Given the description of an element on the screen output the (x, y) to click on. 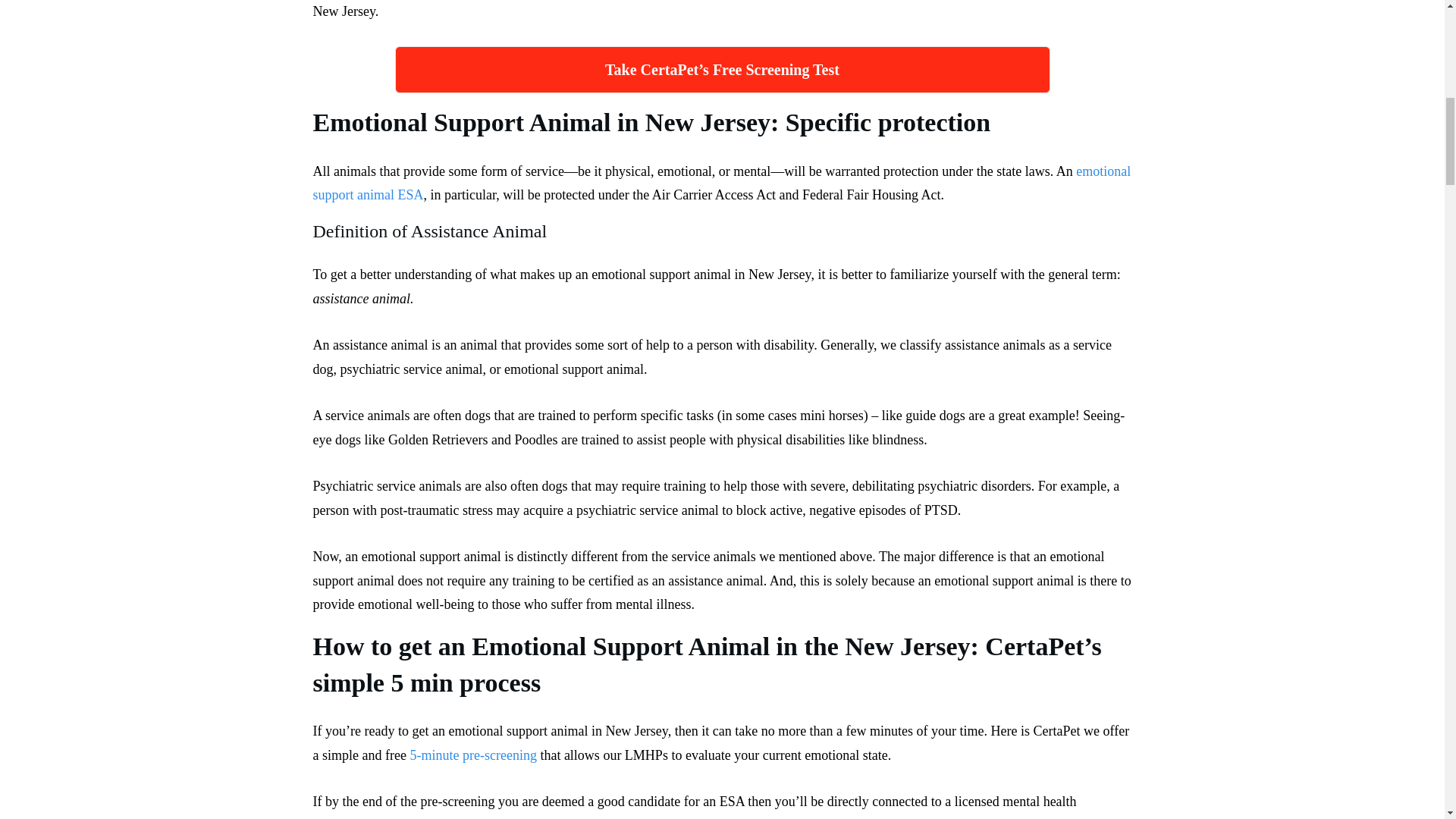
5-minute pre-screening (472, 754)
ESA letter (972, 818)
ESA letter (972, 818)
emotional support animal ESA (722, 183)
